Given the description of an element on the screen output the (x, y) to click on. 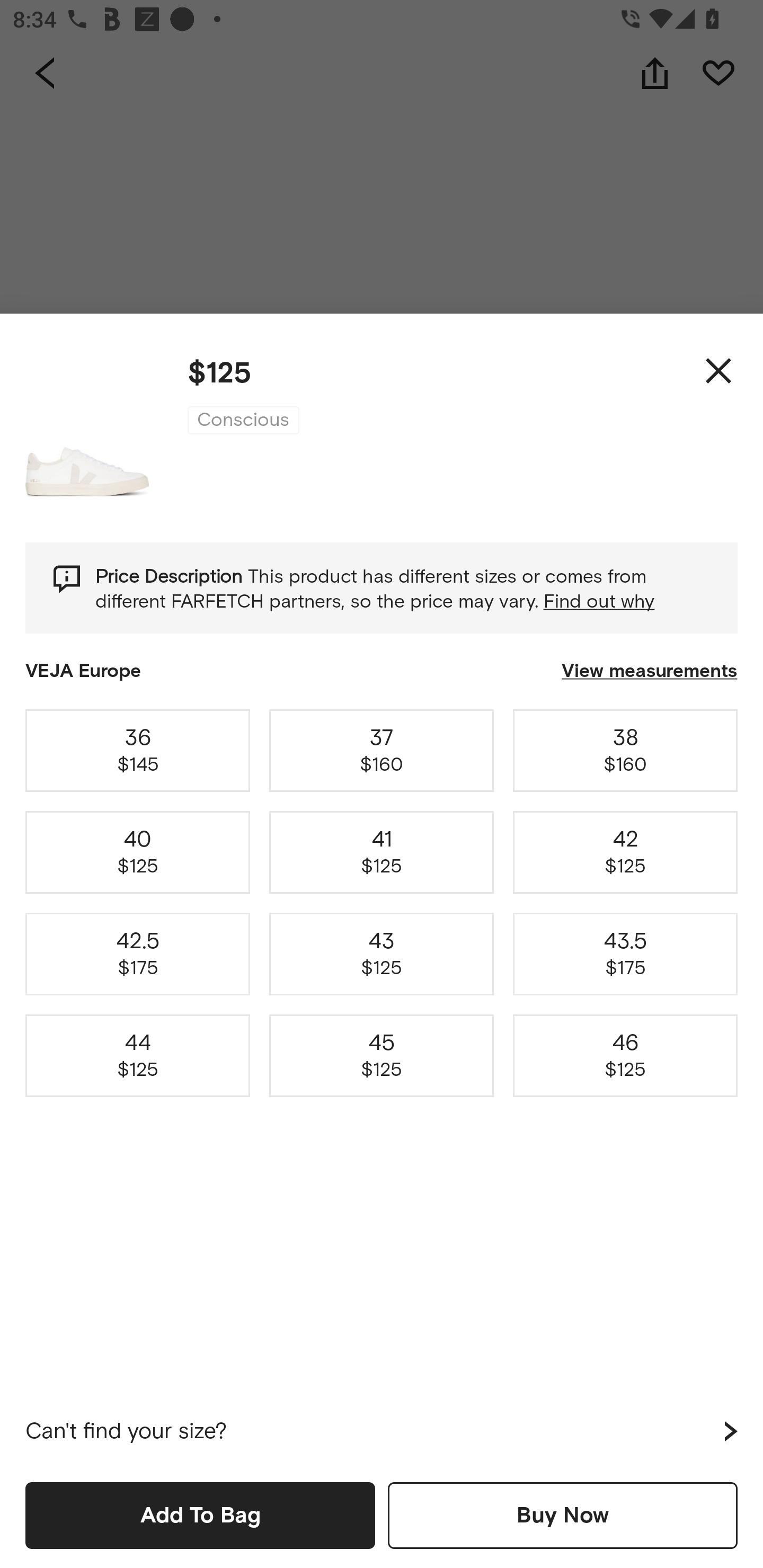
36 $145 (137, 749)
37 $160 (381, 749)
38 $160 (624, 749)
40 $125 (137, 851)
41 $125 (381, 851)
42 $125 (624, 851)
42.5 $175 (137, 953)
43 $125 (381, 953)
43.5 $175 (624, 953)
44 $125 (137, 1055)
45 $125 (381, 1055)
46 $125 (624, 1055)
Can't find your size? (381, 1431)
Add To Bag (200, 1515)
Buy Now (562, 1515)
